Given the description of an element on the screen output the (x, y) to click on. 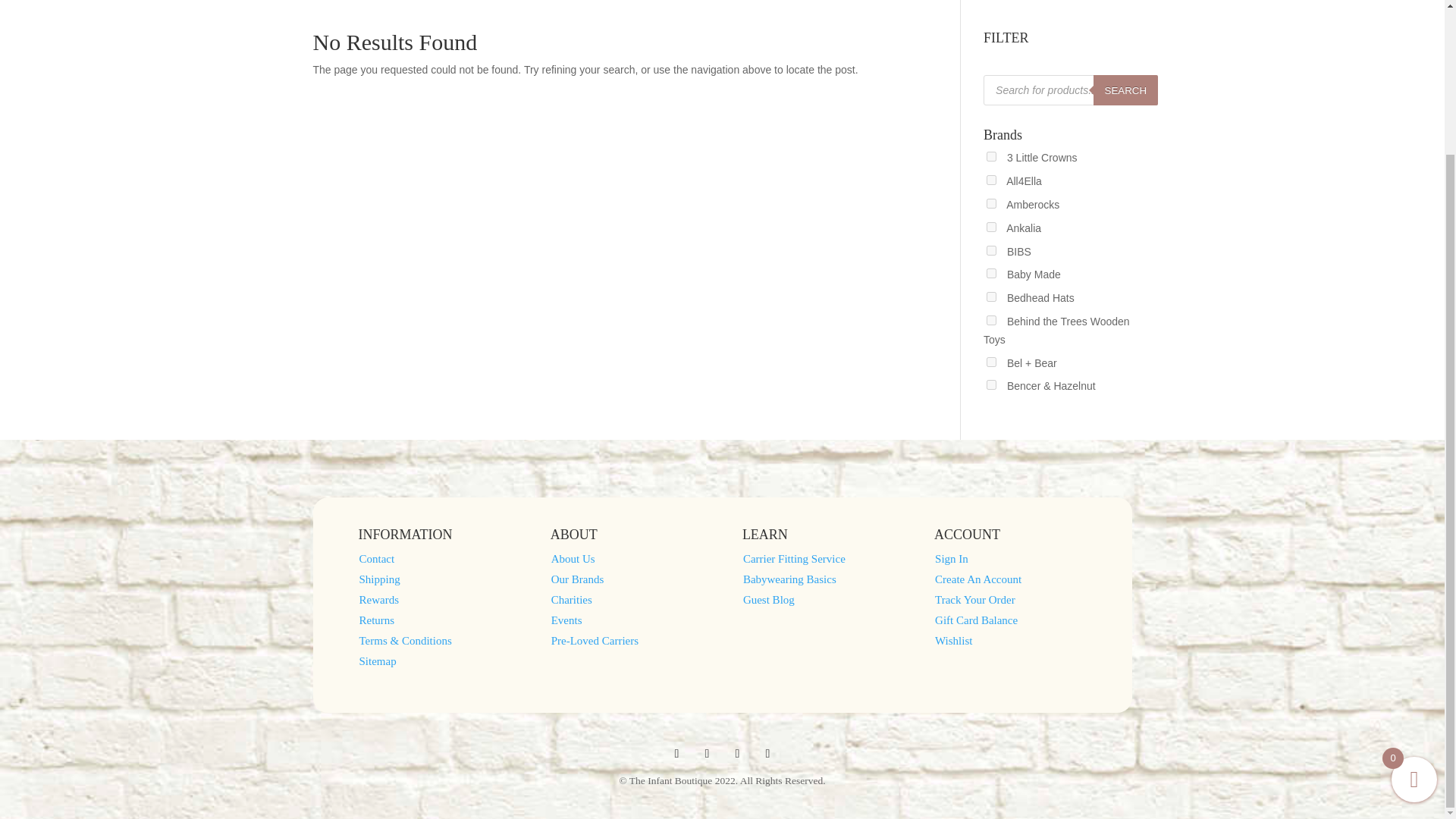
ankalia (991, 226)
bencer-and-hazelnut (991, 384)
Follow on Pinterest (737, 753)
bibs (991, 250)
behind-the-trees-wooden-toys (991, 320)
all4ella (991, 180)
Follow on TikTok (766, 753)
Follow on Facebook (675, 753)
bel-and-bear (991, 361)
bedhead-hats (991, 296)
